Given the description of an element on the screen output the (x, y) to click on. 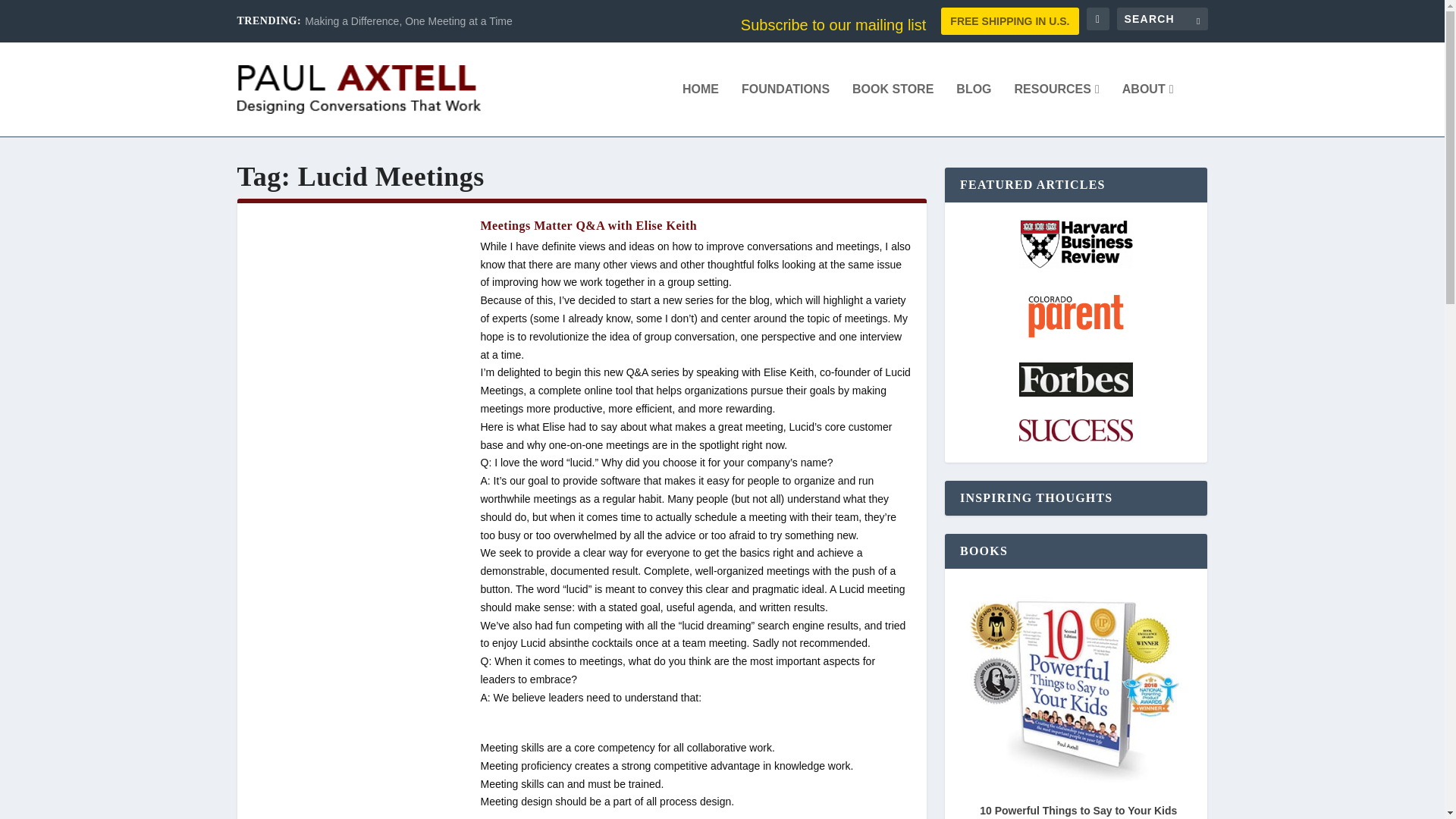
Search for: (1161, 18)
10 Powerful Things to Say to Your Kids (1077, 810)
FOUNDATIONS (785, 109)
BOOK STORE (892, 109)
Subscribe to our mailing list (833, 24)
Making a Difference, One Meeting at a Time (408, 21)
ABOUT (1147, 109)
RESOURCES (1056, 109)
FREE SHIPPING IN U.S. (1009, 21)
FREE SHIPPING IN U.S. (1009, 21)
